Given the description of an element on the screen output the (x, y) to click on. 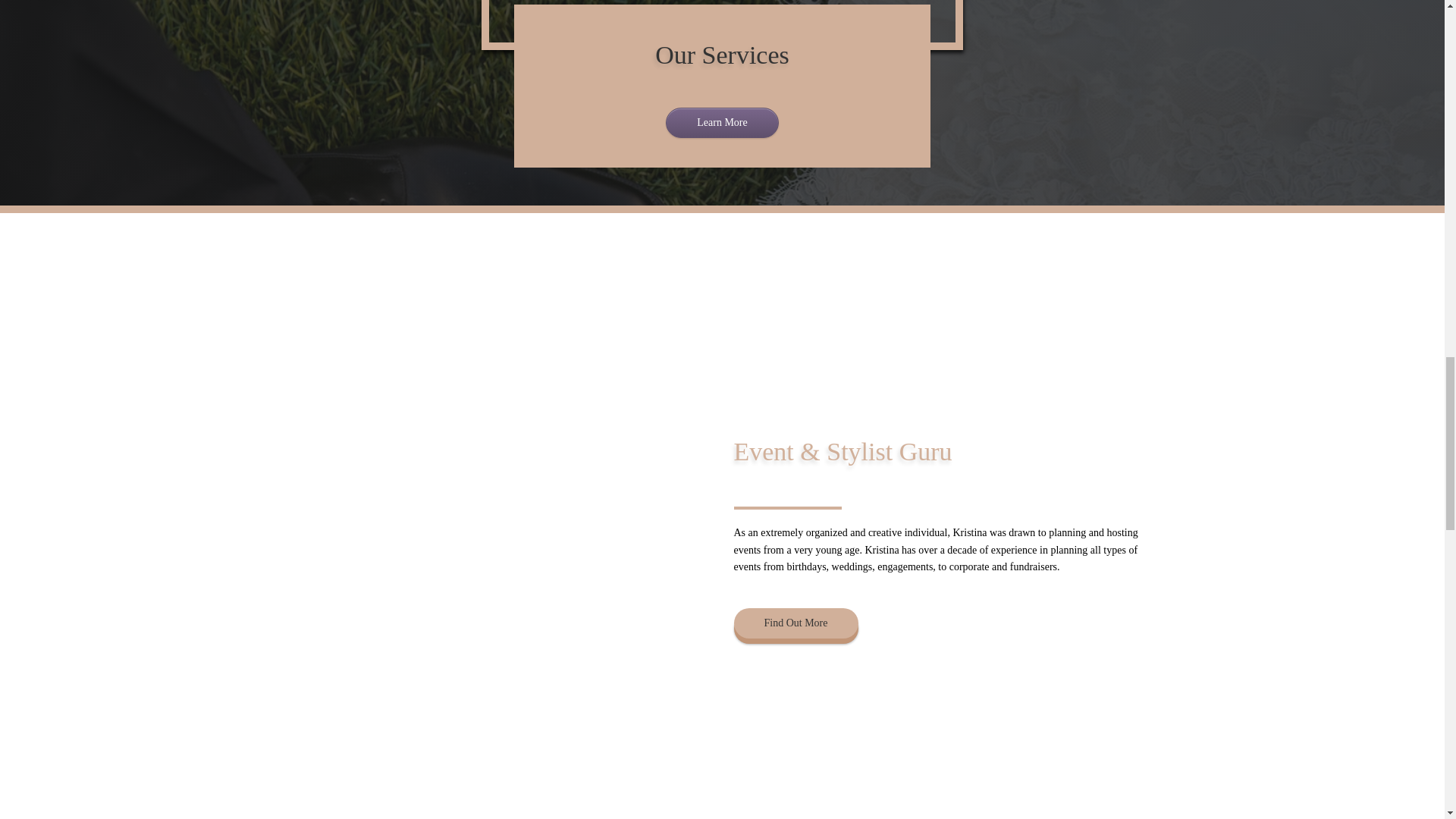
Learn More (721, 122)
Find Out More (796, 623)
